Given the description of an element on the screen output the (x, y) to click on. 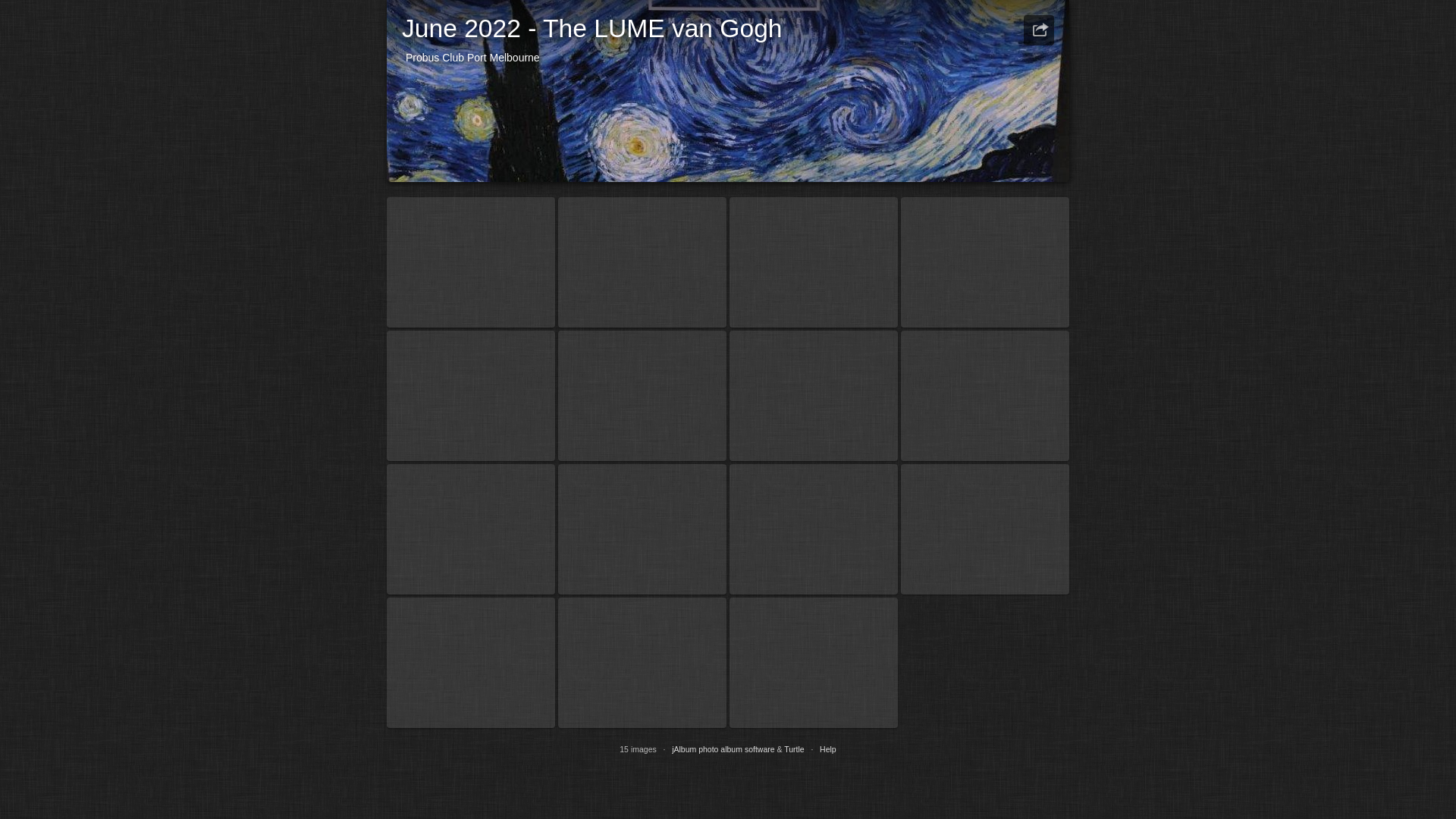
  Element type: text (1038, 30)
Help Element type: text (827, 748)
jAlbum photo album software Element type: text (722, 748)
Turtle Element type: text (793, 748)
